Given the description of an element on the screen output the (x, y) to click on. 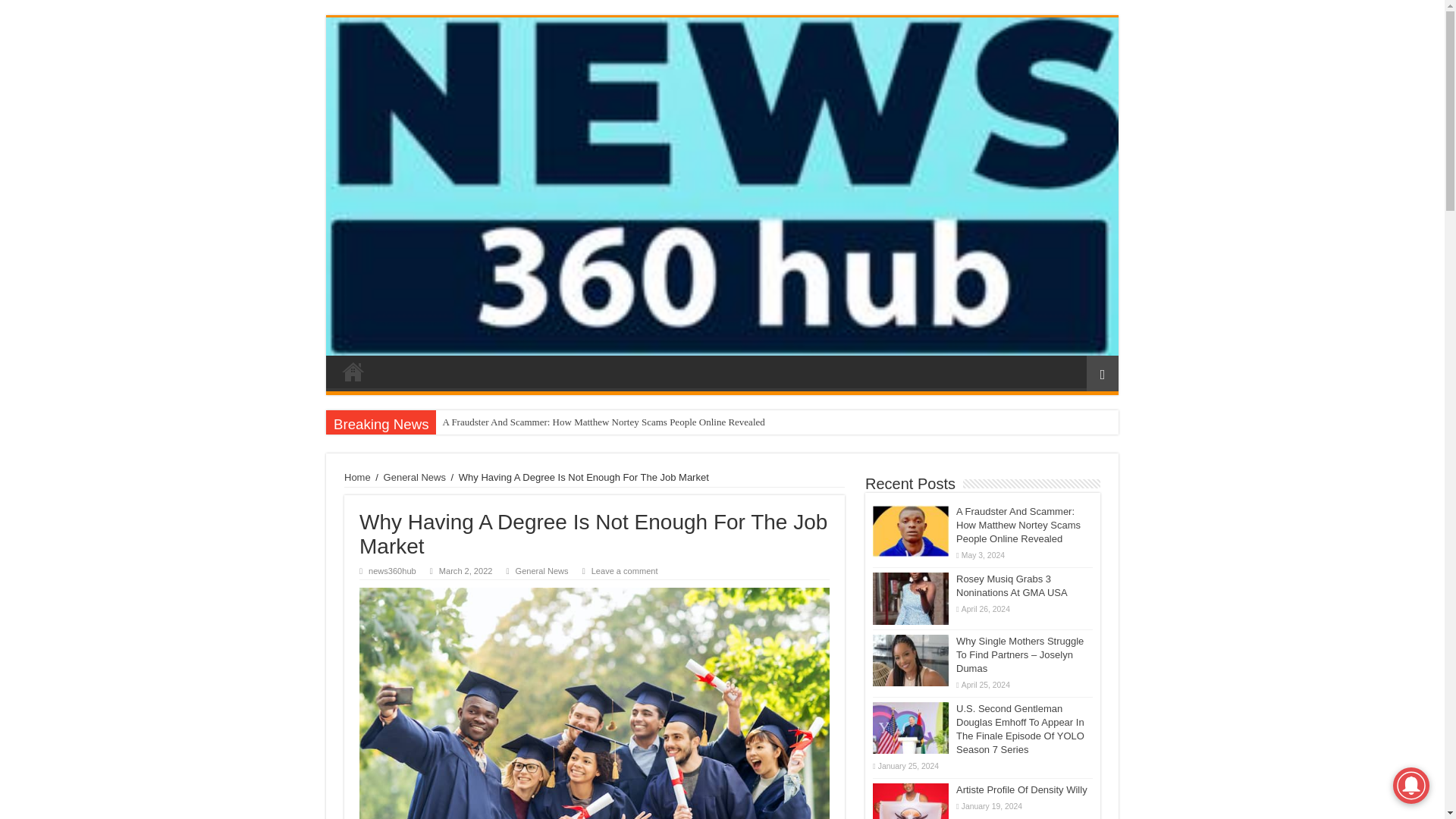
Leave a comment (624, 570)
news360hub (392, 570)
Menu Item (352, 371)
General News (414, 477)
General News (542, 570)
Home (357, 477)
Home (352, 371)
